Given the description of an element on the screen output the (x, y) to click on. 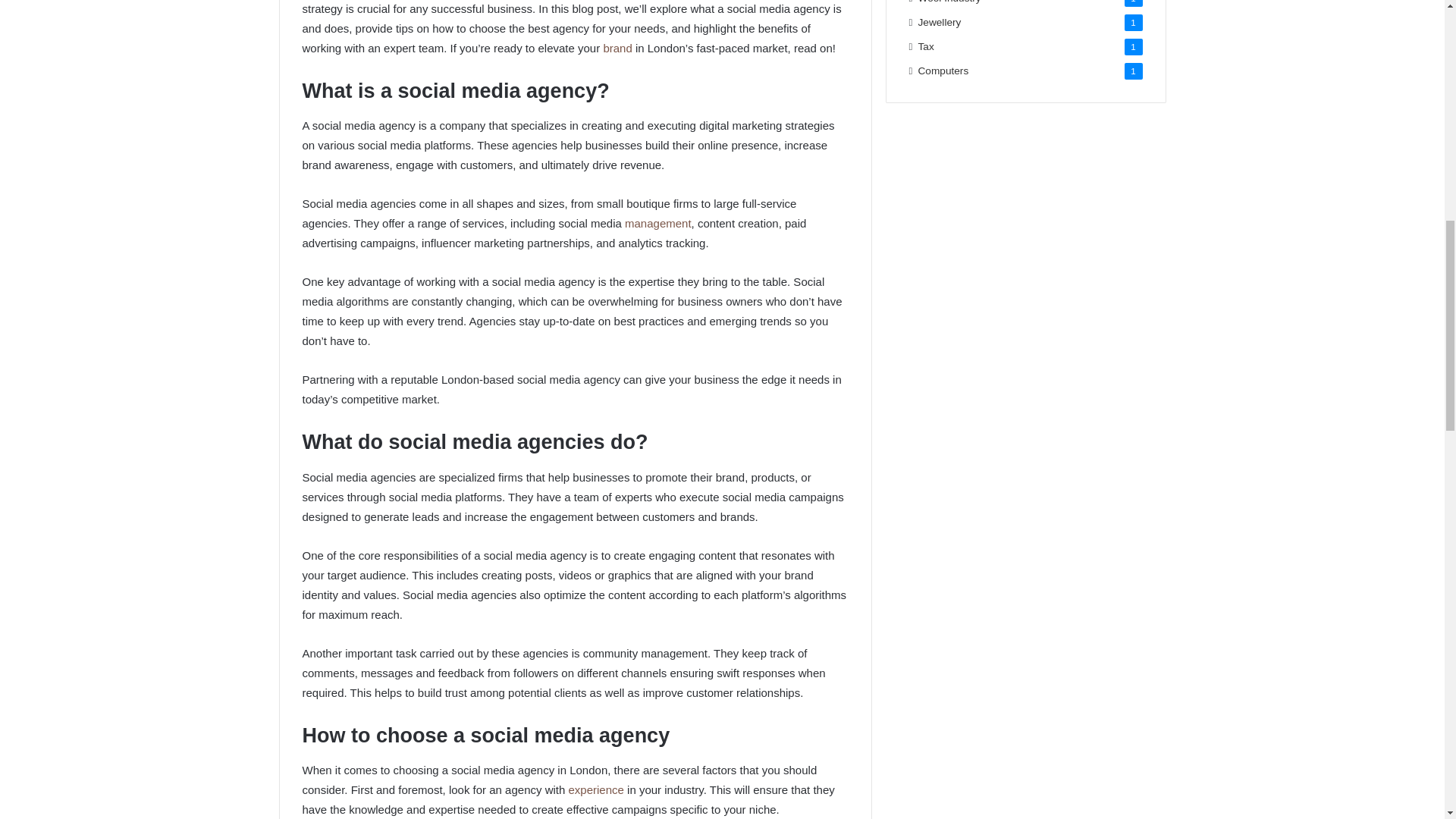
experience (598, 789)
management (657, 223)
brand (618, 47)
